Given the description of an element on the screen output the (x, y) to click on. 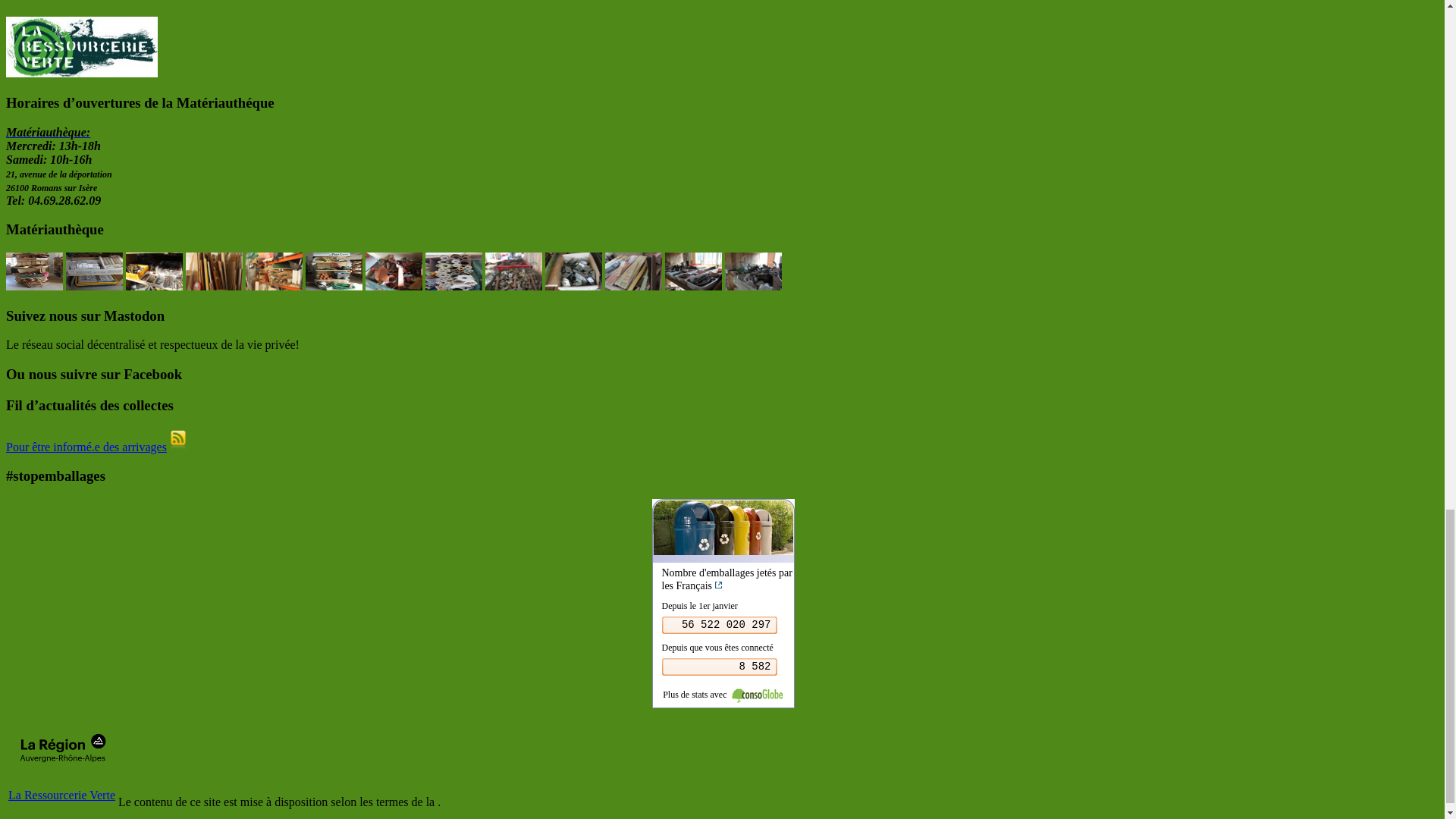
mat14 (333, 271)
mat1 (33, 271)
mat13 (274, 271)
mat11 (154, 271)
